Given the description of an element on the screen output the (x, y) to click on. 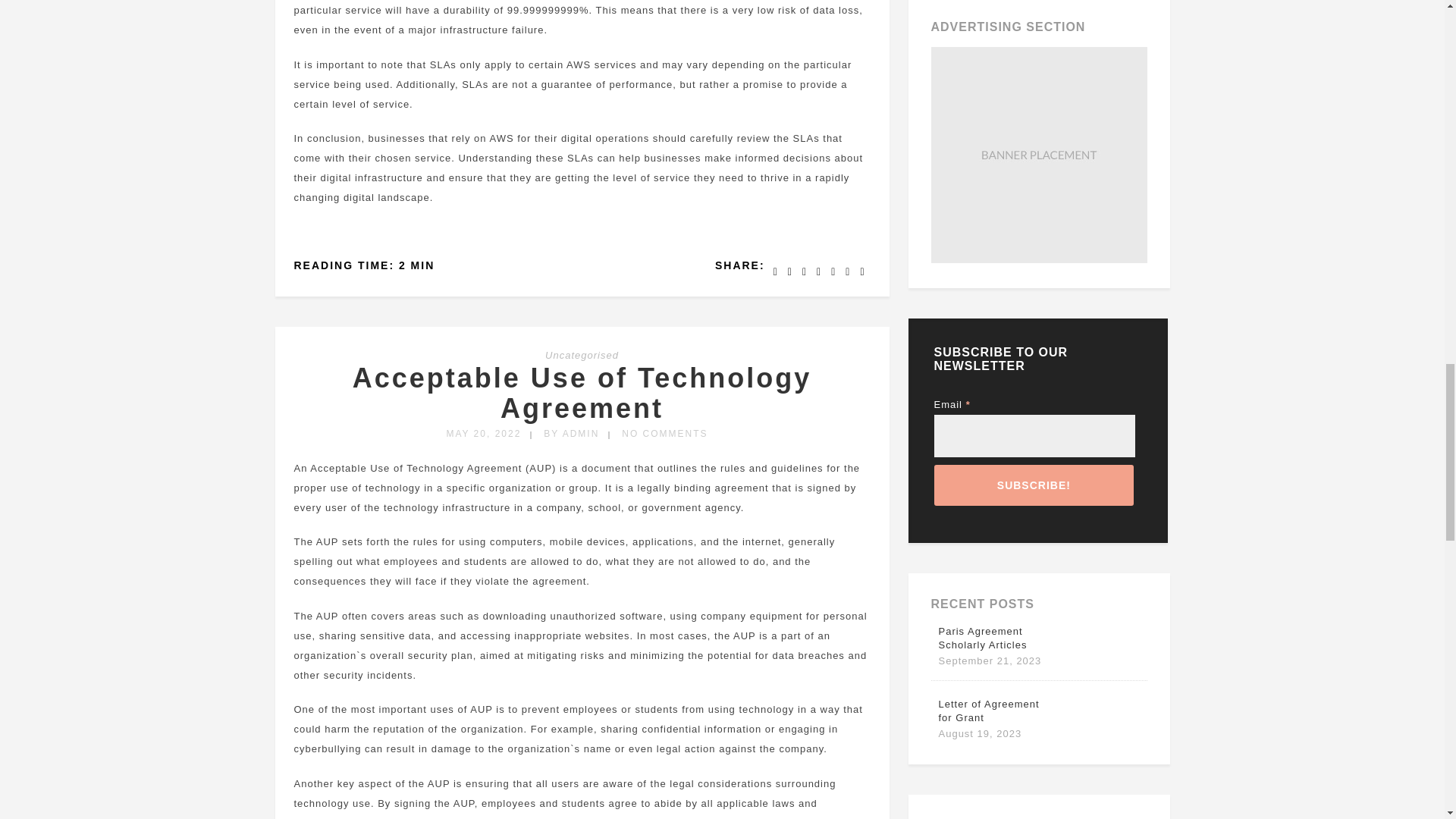
NO COMMENTS (664, 433)
Permanent Link to Acceptable Use of Technology Agreement (581, 393)
BY ADMIN (570, 433)
Email (1034, 435)
MAY 20, 2022 (483, 433)
Subscribe! (1034, 485)
Acceptable Use of Technology Agreement (581, 393)
